Given the description of an element on the screen output the (x, y) to click on. 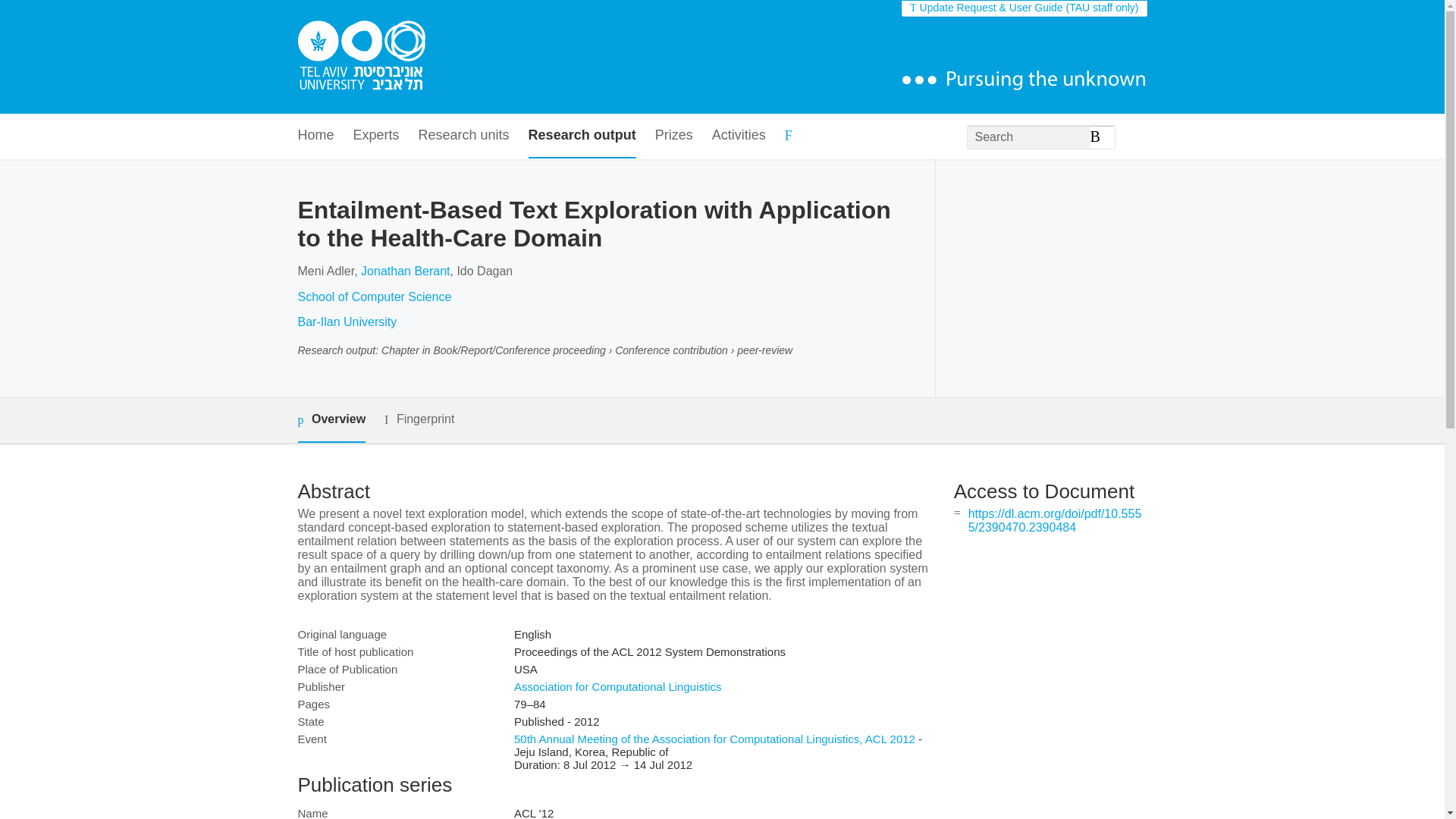
Overview (331, 420)
School of Computer Science (374, 296)
Research output (582, 135)
Experts (375, 135)
Research units (464, 135)
Fingerprint (419, 419)
Bar-Ilan University (346, 321)
Association for Computational Linguistics (616, 686)
Tel Aviv University Home (361, 56)
